Given the description of an element on the screen output the (x, y) to click on. 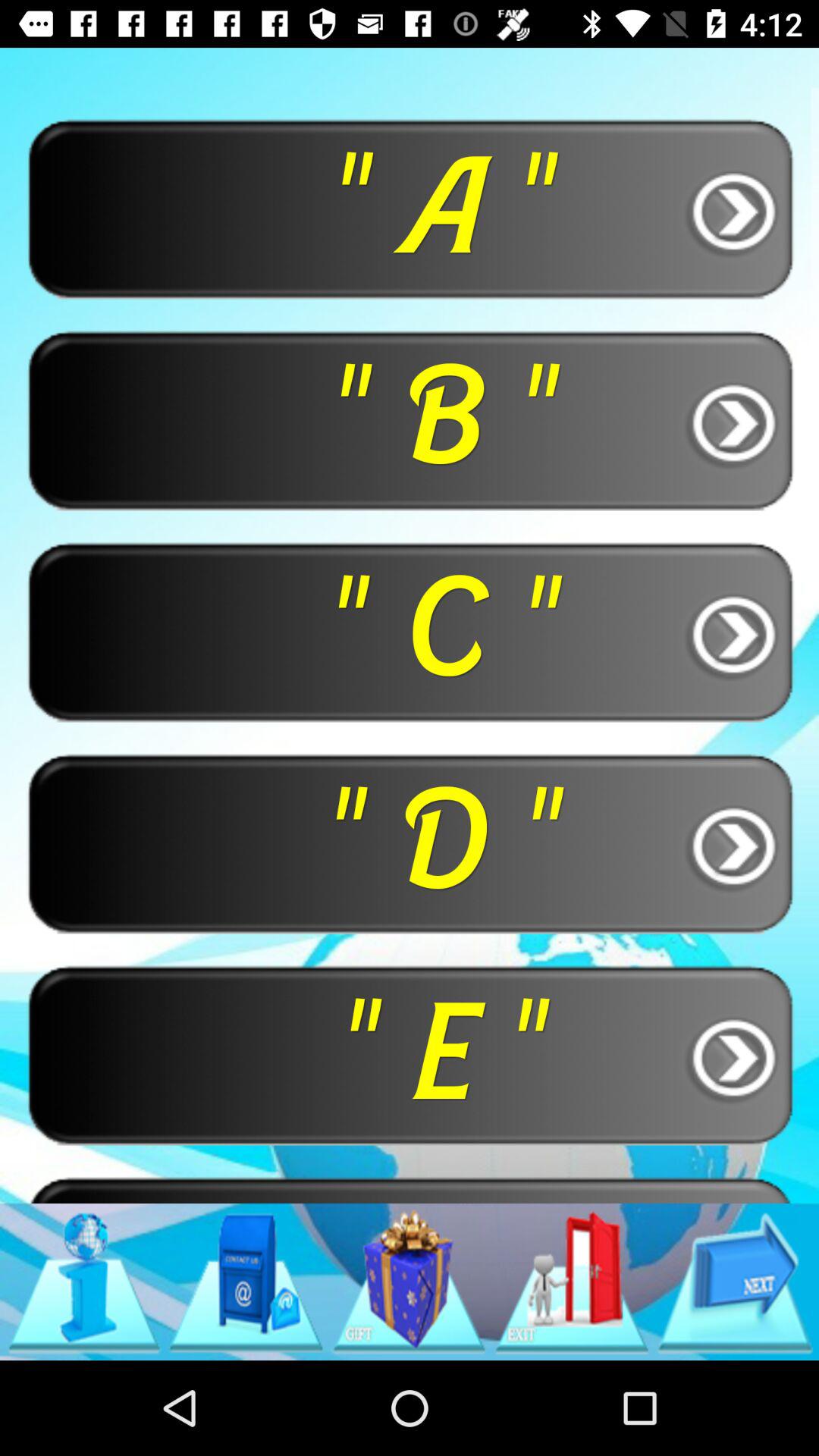
select the button above   " f " item (409, 1054)
